Given the description of an element on the screen output the (x, y) to click on. 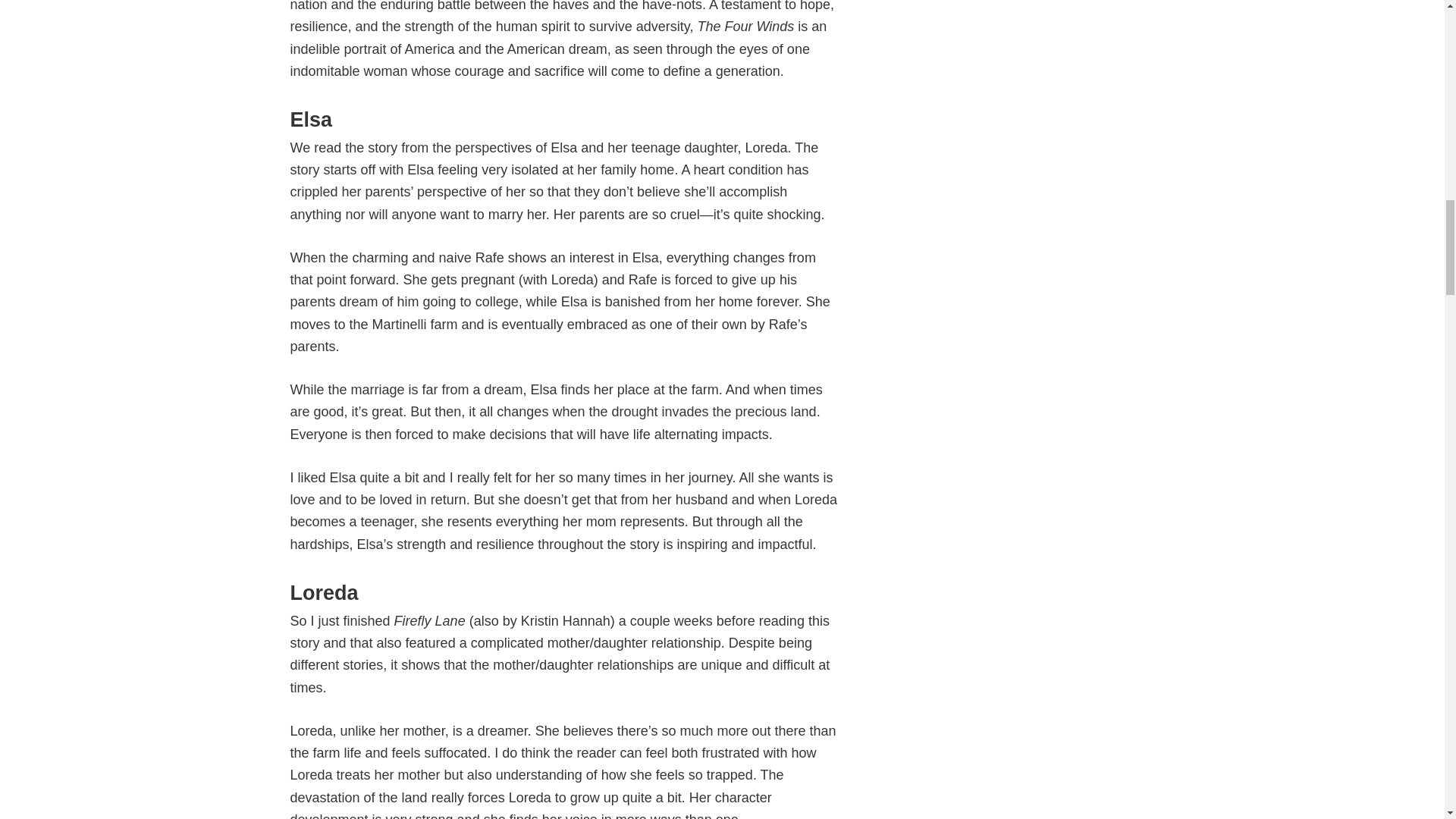
Firefly Lane (429, 620)
